Given the description of an element on the screen output the (x, y) to click on. 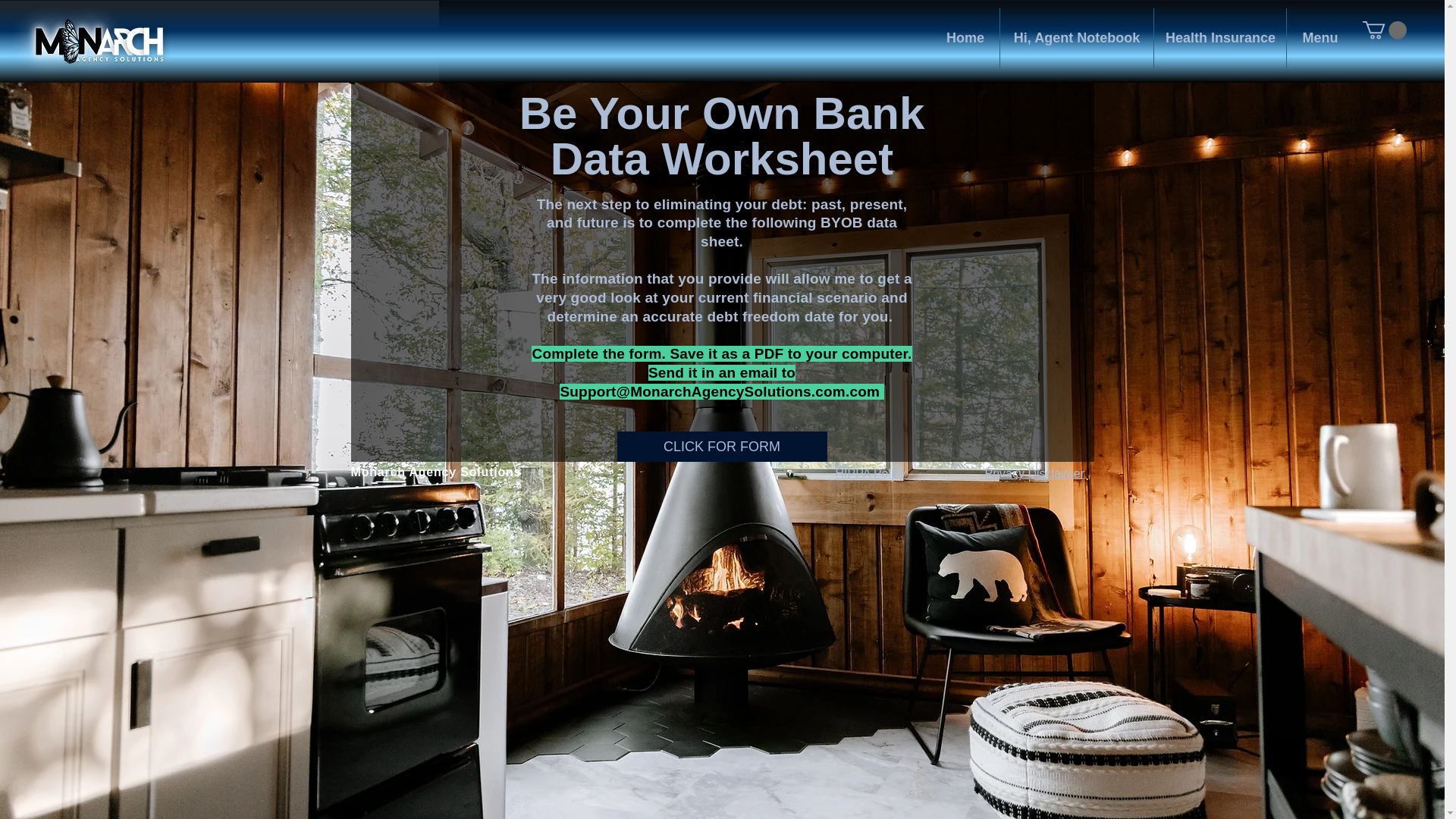
Home (964, 37)
HIPPA Policy (870, 472)
Hi, Agent Notebook (1076, 37)
CLICK FOR FORM (722, 446)
Privacy Disclaimer (1034, 472)
